Given the description of an element on the screen output the (x, y) to click on. 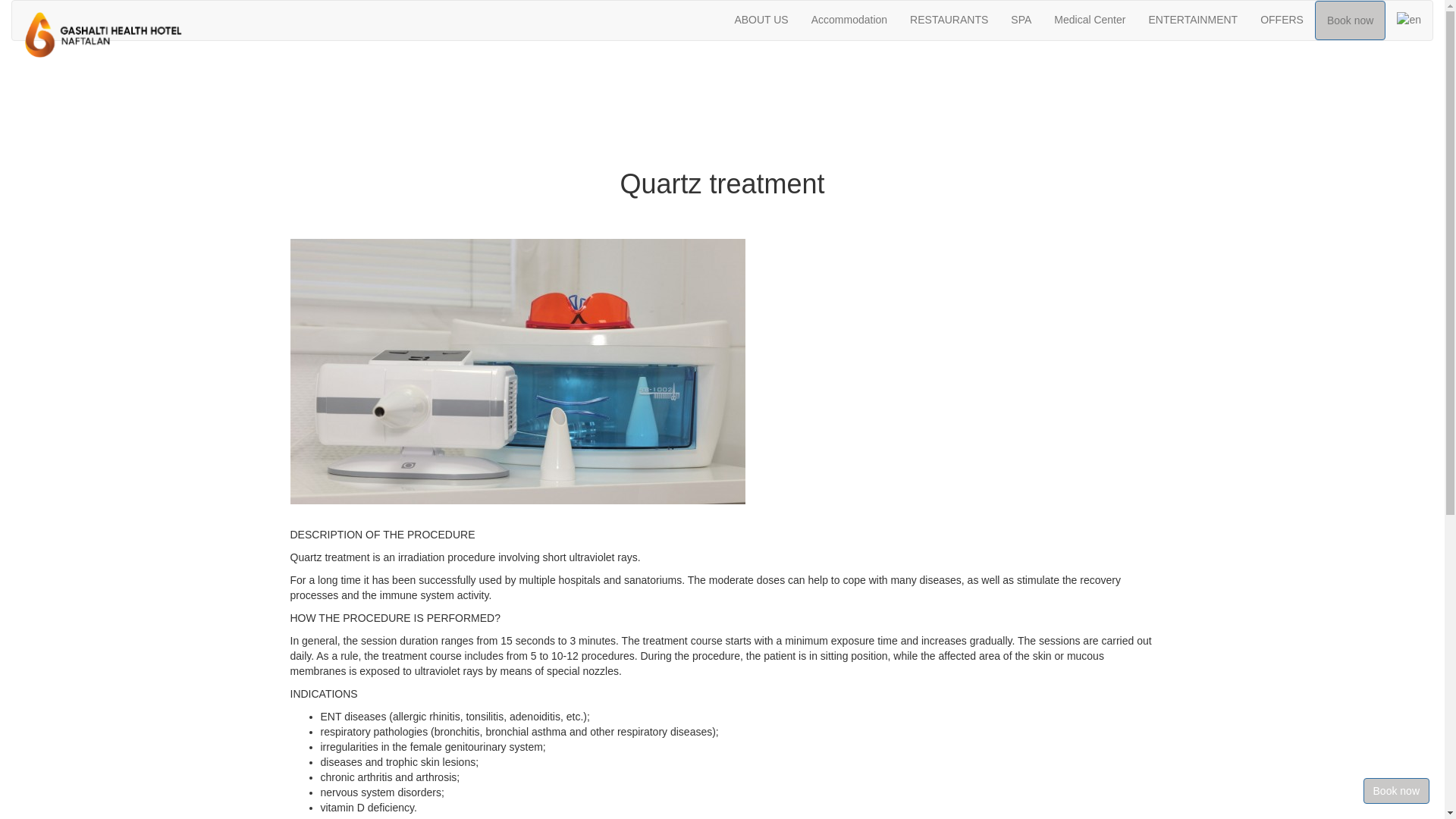
ABOUT US Element type: text (760, 19)
OFFERS Element type: text (1281, 19)
ENTERTAINMENT Element type: text (1192, 19)
SPA Element type: text (1020, 19)
RESTAURANTS Element type: text (948, 19)
Book now Element type: text (1396, 790)
Medical Center Element type: text (1089, 19)
Accommodation Element type: text (849, 19)
Book now Element type: text (1349, 20)
